Given the description of an element on the screen output the (x, y) to click on. 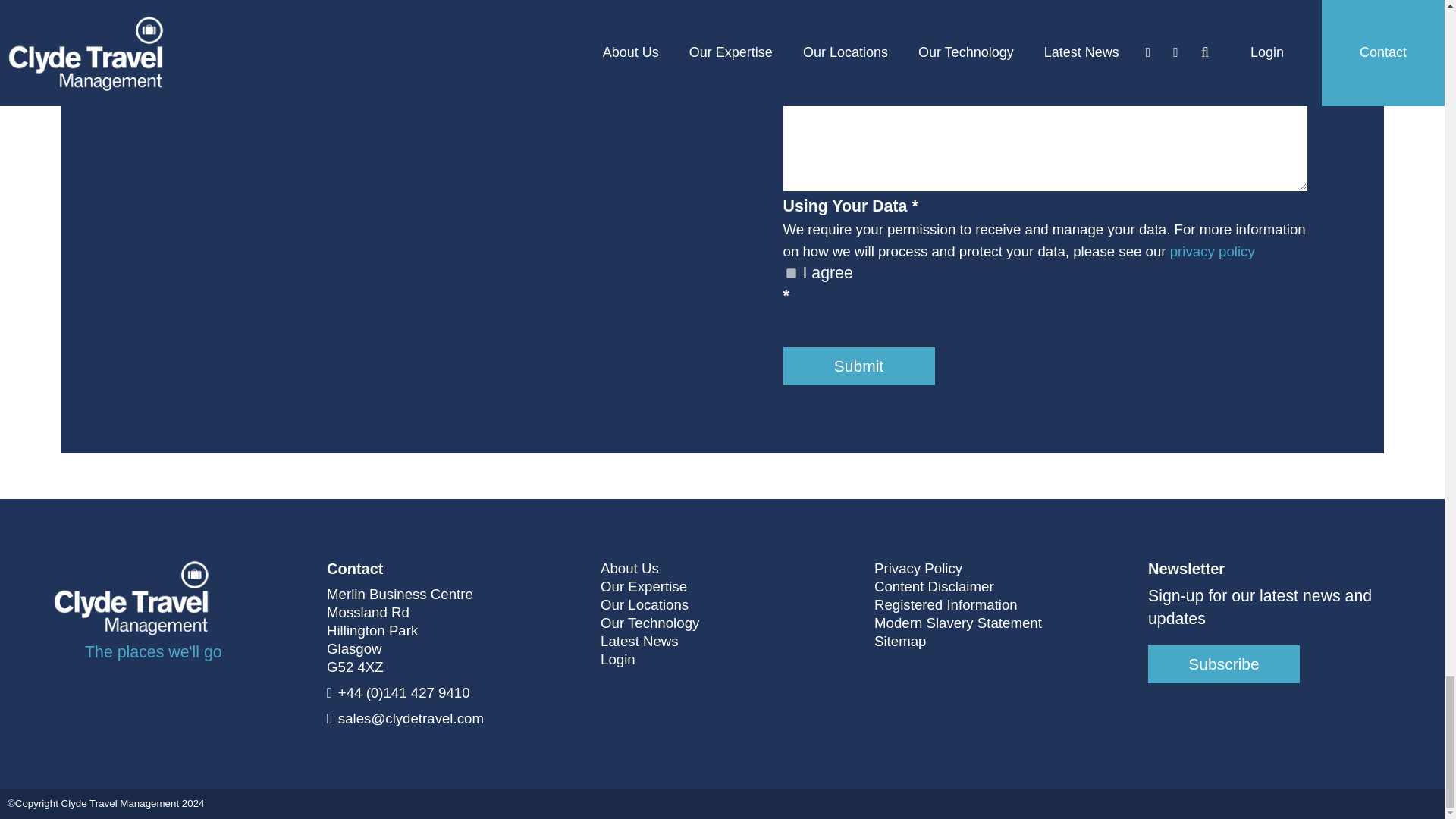
Submit (858, 365)
privacy policy (1212, 251)
Our Locations (643, 605)
Our Technology (648, 623)
About Us (629, 568)
Our Expertise (643, 587)
Submit (858, 365)
true (790, 273)
